Given the description of an element on the screen output the (x, y) to click on. 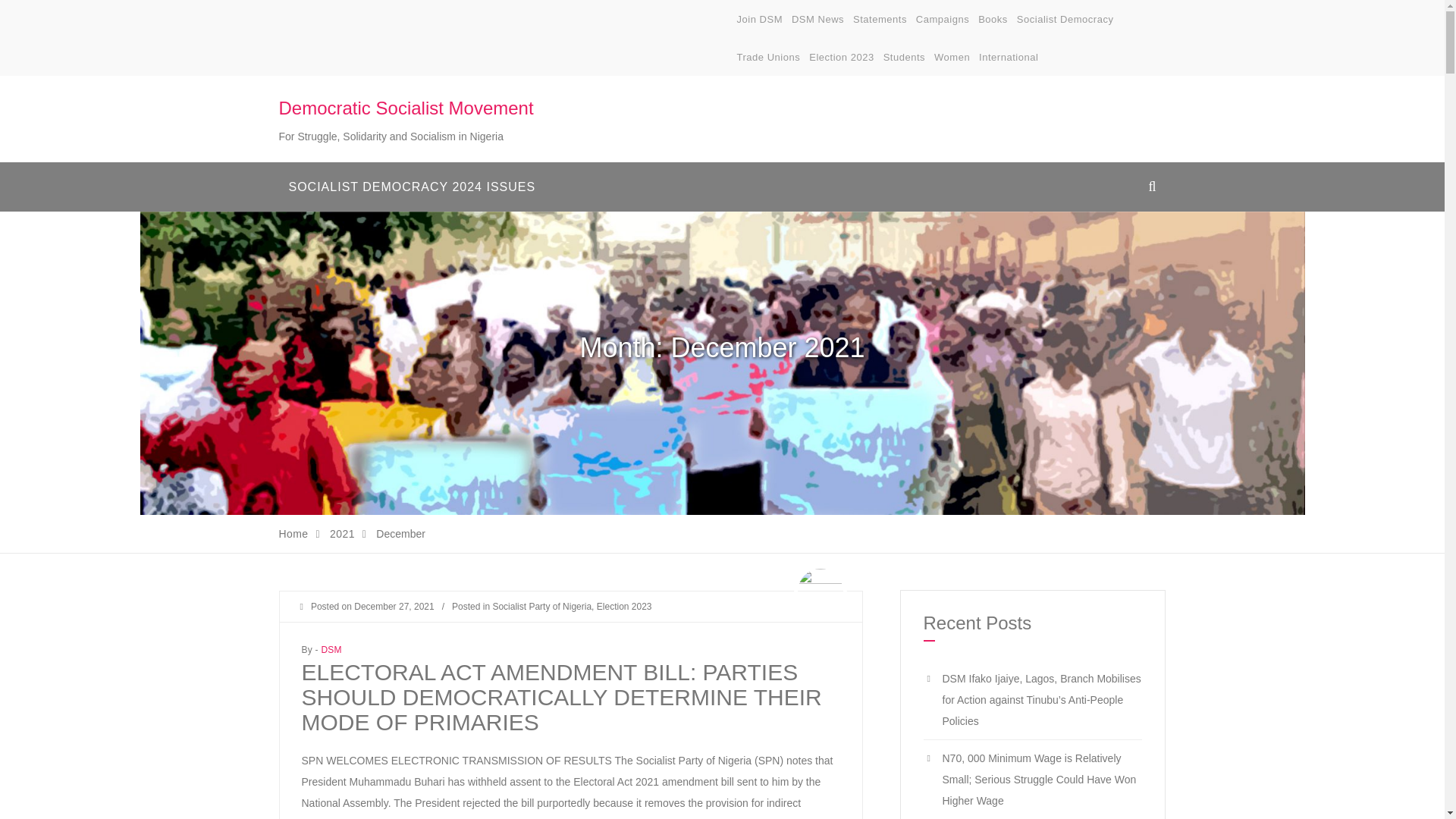
DSM News (818, 19)
Statements (880, 19)
International (1008, 57)
Trade Unions (768, 57)
Election 2023 (842, 57)
Socialist Democracy (1064, 19)
Socialist Party of Nigeria (541, 606)
Home (293, 533)
SOCIALIST DEMOCRACY 2024 ISSUES (412, 186)
Election 2023 (624, 606)
Democratic Socialist Movement (406, 107)
Campaigns (942, 19)
Women (951, 57)
Join DSM (759, 19)
